Given the description of an element on the screen output the (x, y) to click on. 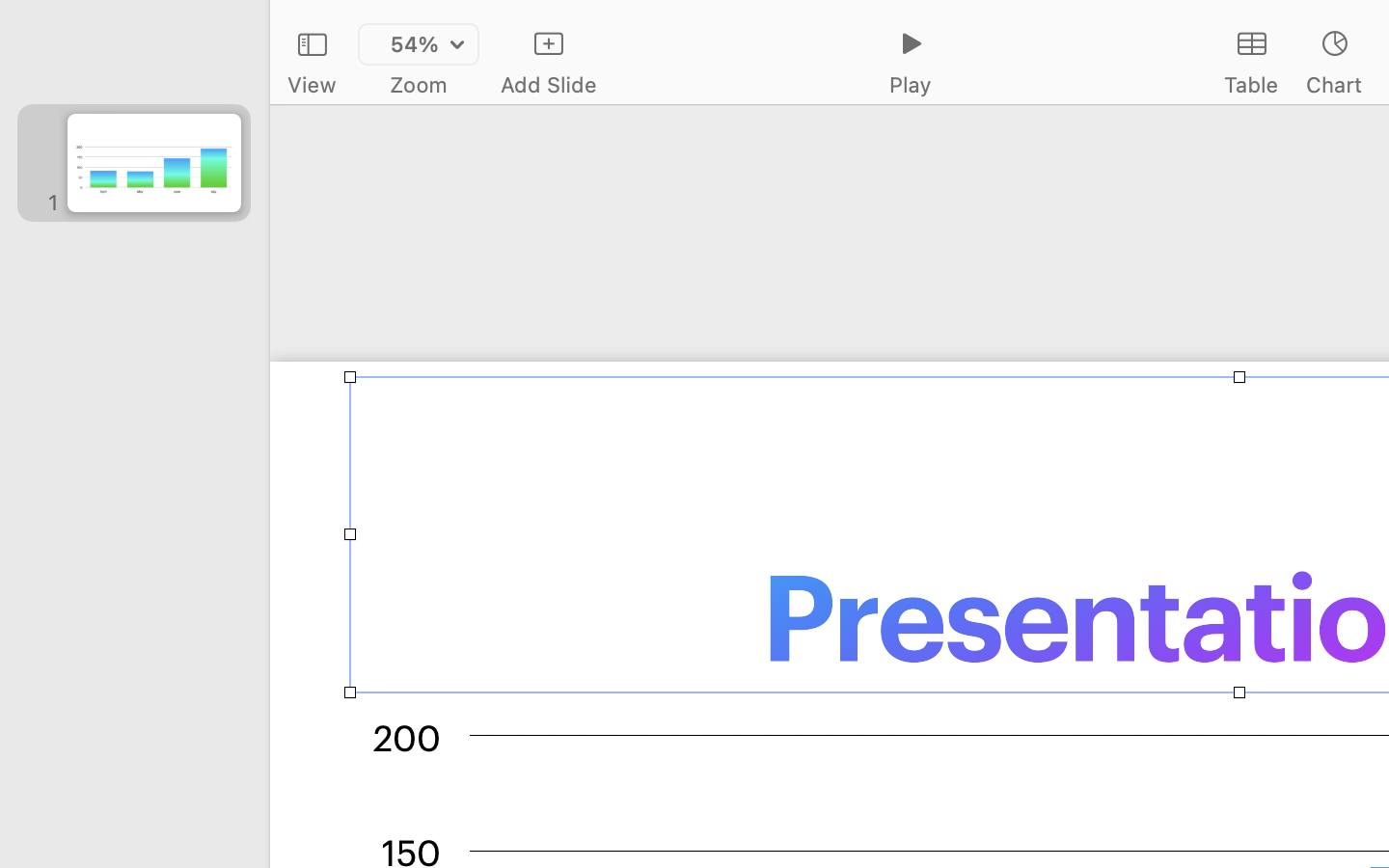
Zoom Element type: AXStaticText (418, 84)
View Element type: AXStaticText (311, 84)
